Given the description of an element on the screen output the (x, y) to click on. 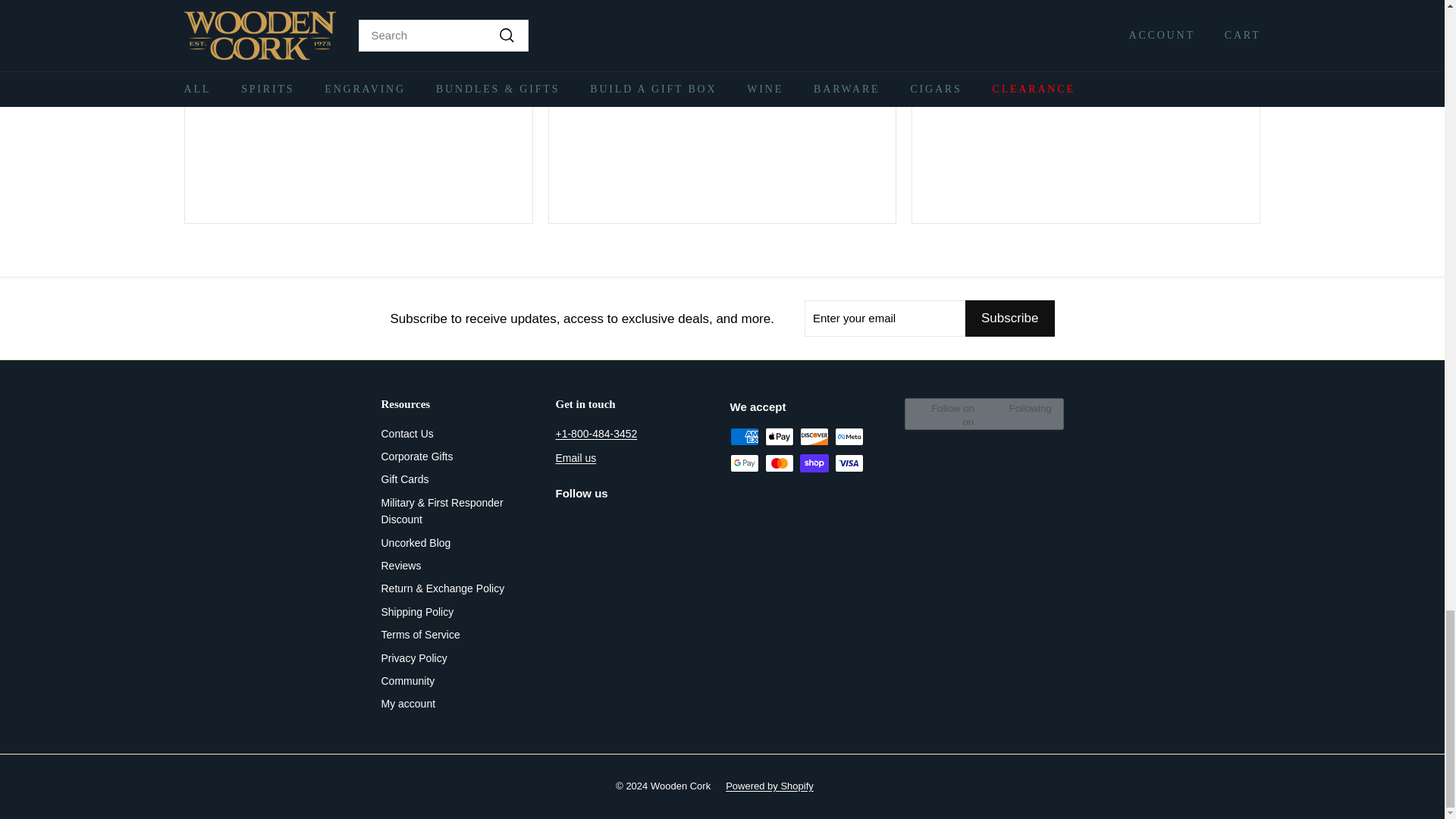
Visa (848, 463)
Google Pay (743, 463)
Meta Pay (848, 436)
Shop Pay (813, 463)
Apple Pay (778, 436)
American Express (743, 436)
Discover (813, 436)
Mastercard (778, 463)
